Given the description of an element on the screen output the (x, y) to click on. 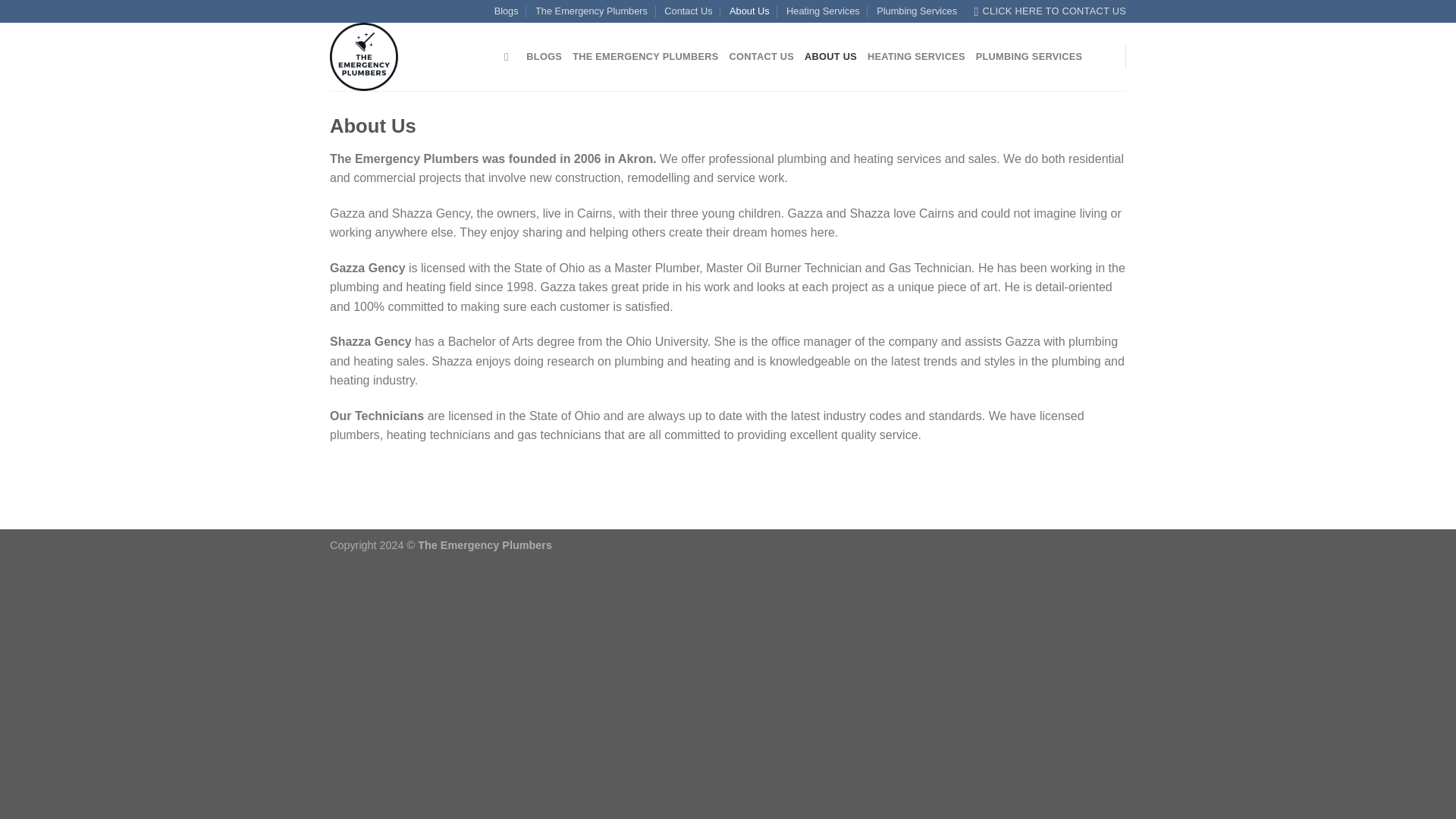
BLOGS (543, 56)
Plumbing Services (916, 11)
PLUMBING SERVICES (1029, 56)
Heating Services (823, 11)
CLICK HERE TO CONTACT US (1049, 11)
ABOUT US (831, 56)
THE EMERGENCY PLUMBERS (644, 56)
About Us (749, 11)
HEATING SERVICES (916, 56)
Blogs (506, 11)
Contact Us (687, 11)
The Emergency Plumbers (405, 56)
The Emergency Plumbers (591, 11)
CONTACT US (761, 56)
